Given the description of an element on the screen output the (x, y) to click on. 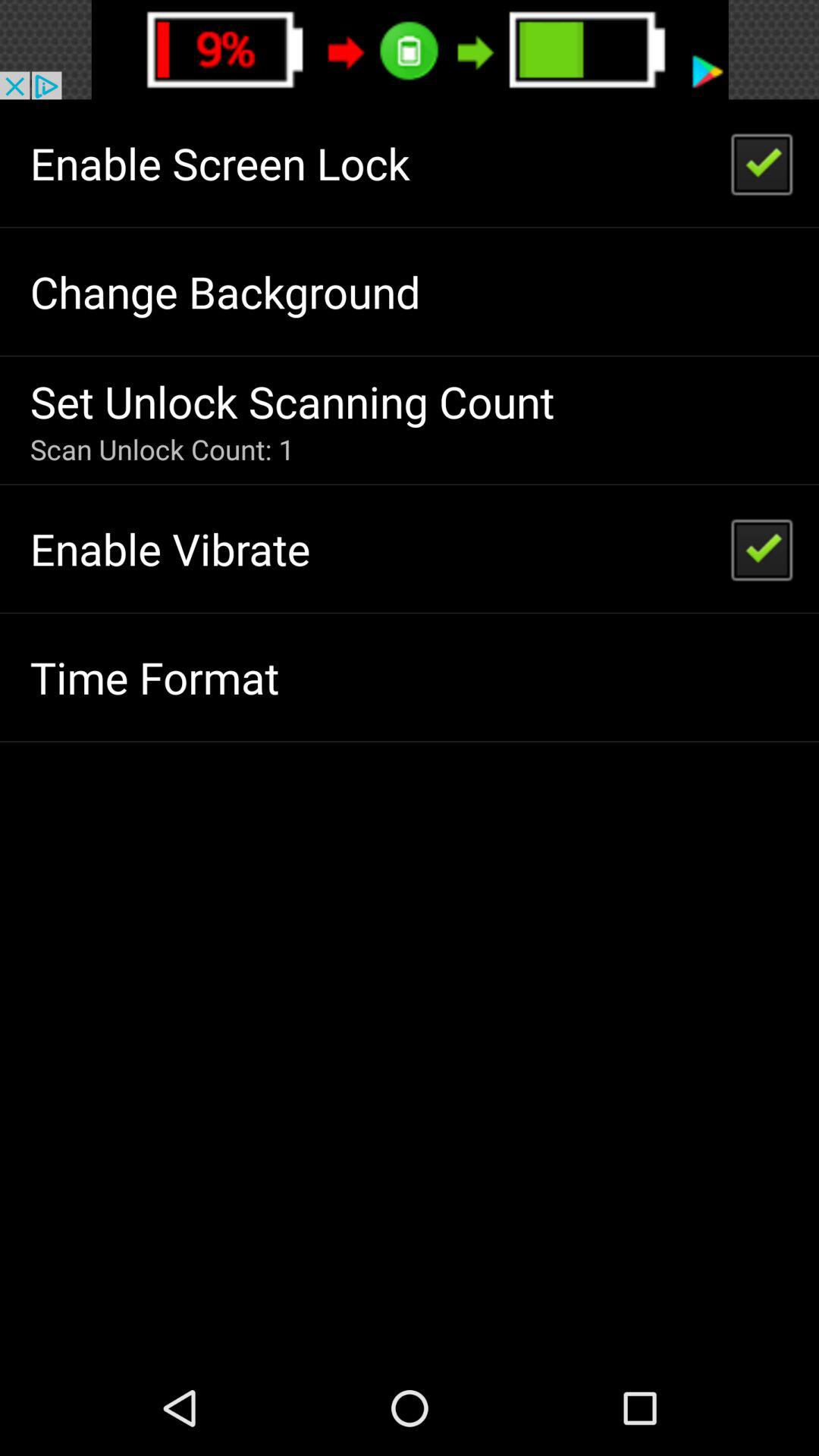
finger print lock screen (409, 49)
